Given the description of an element on the screen output the (x, y) to click on. 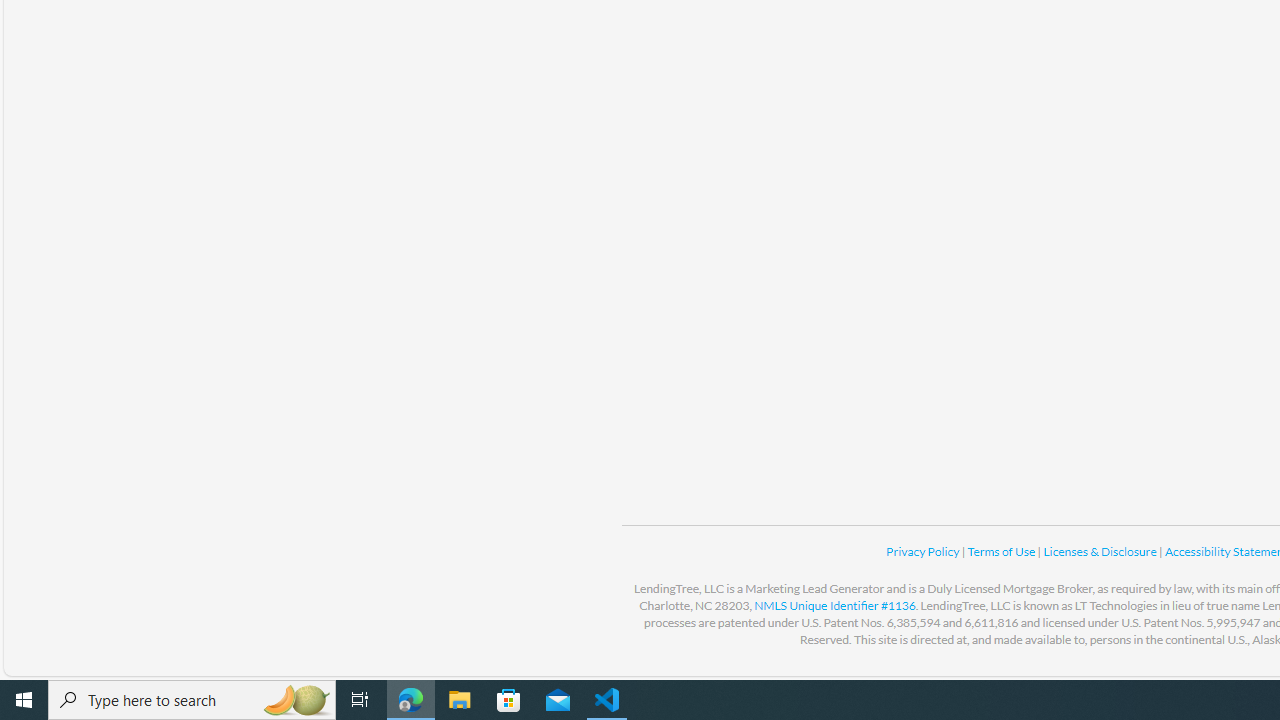
Terms of Use  (1002, 551)
Privacy Policy  (923, 551)
NMLS Unique Identifier #1136 (834, 605)
Licenses & Disclosure  (1100, 551)
